Given the description of an element on the screen output the (x, y) to click on. 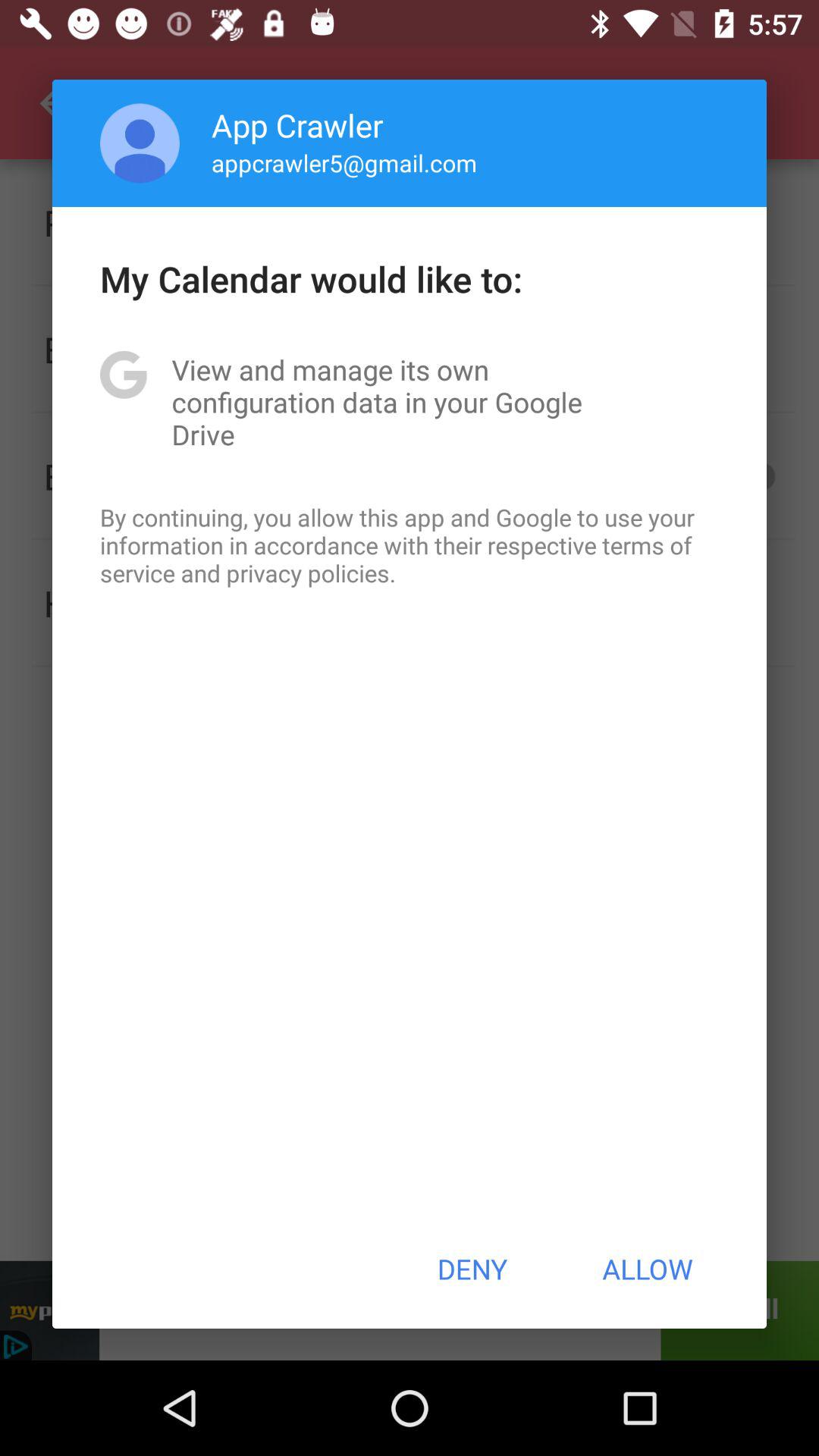
press button at the bottom (471, 1268)
